Given the description of an element on the screen output the (x, y) to click on. 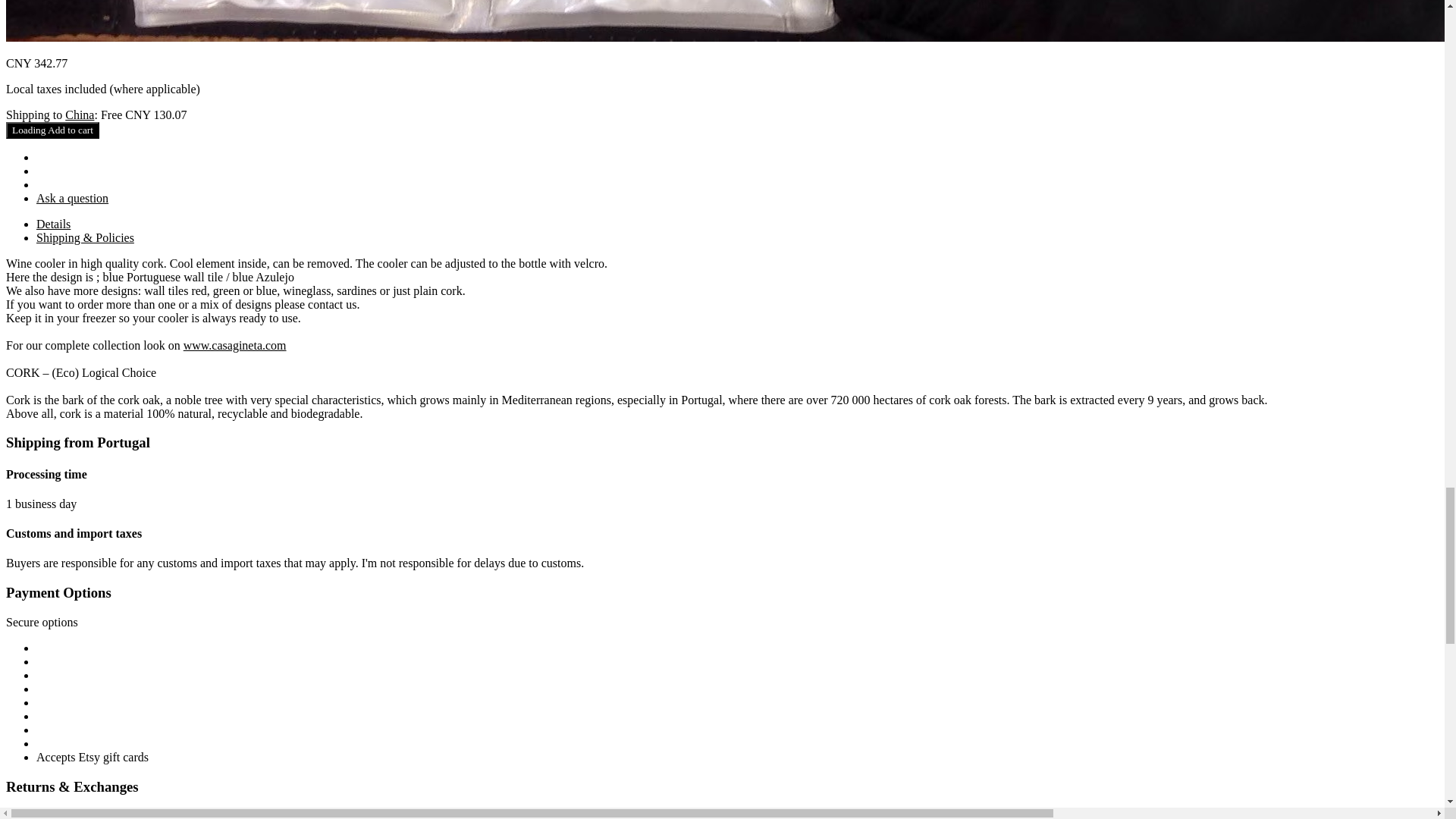
Loading Add to cart (52, 130)
www.casagineta.com (234, 345)
China (79, 114)
Ask a question (71, 197)
Details (52, 223)
